Given the description of an element on the screen output the (x, y) to click on. 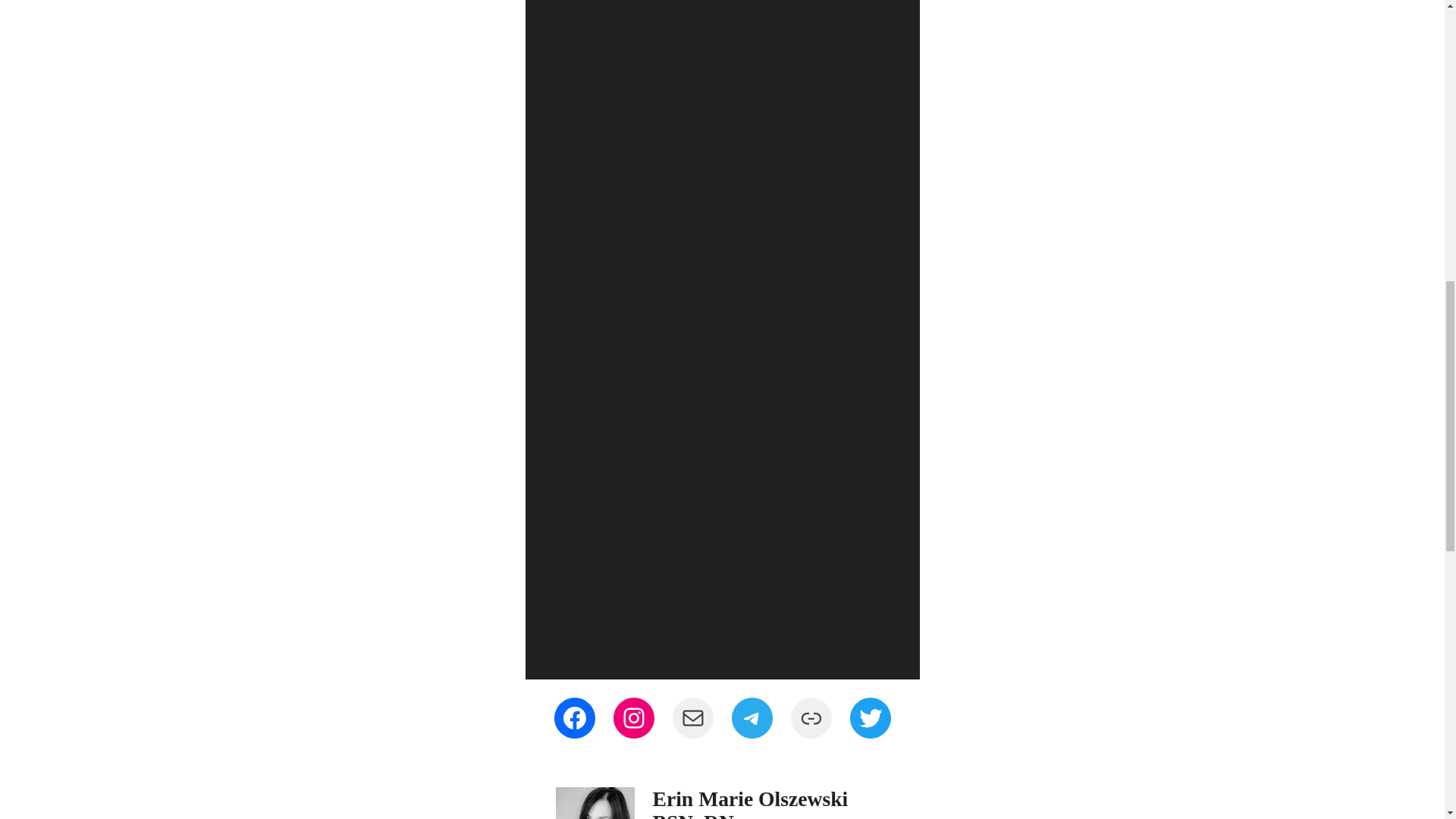
Instagram (632, 717)
Mail (692, 717)
Telegram (750, 717)
Facebook (573, 717)
Twitter (868, 717)
Link (810, 717)
